Given the description of an element on the screen output the (x, y) to click on. 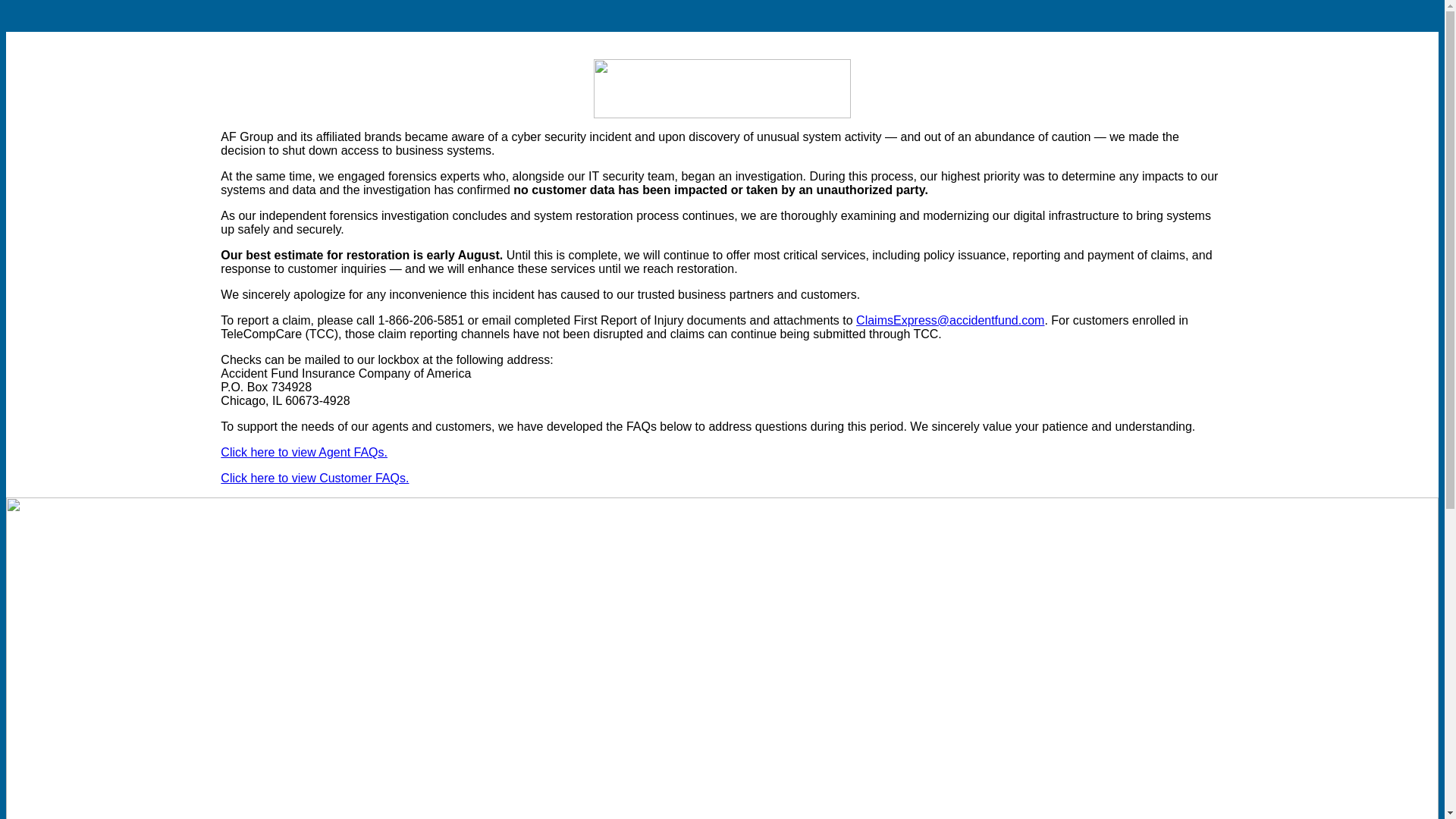
Click here to view Customer FAQs. (315, 477)
Click here to view Agent FAQs. (304, 451)
